Given the description of an element on the screen output the (x, y) to click on. 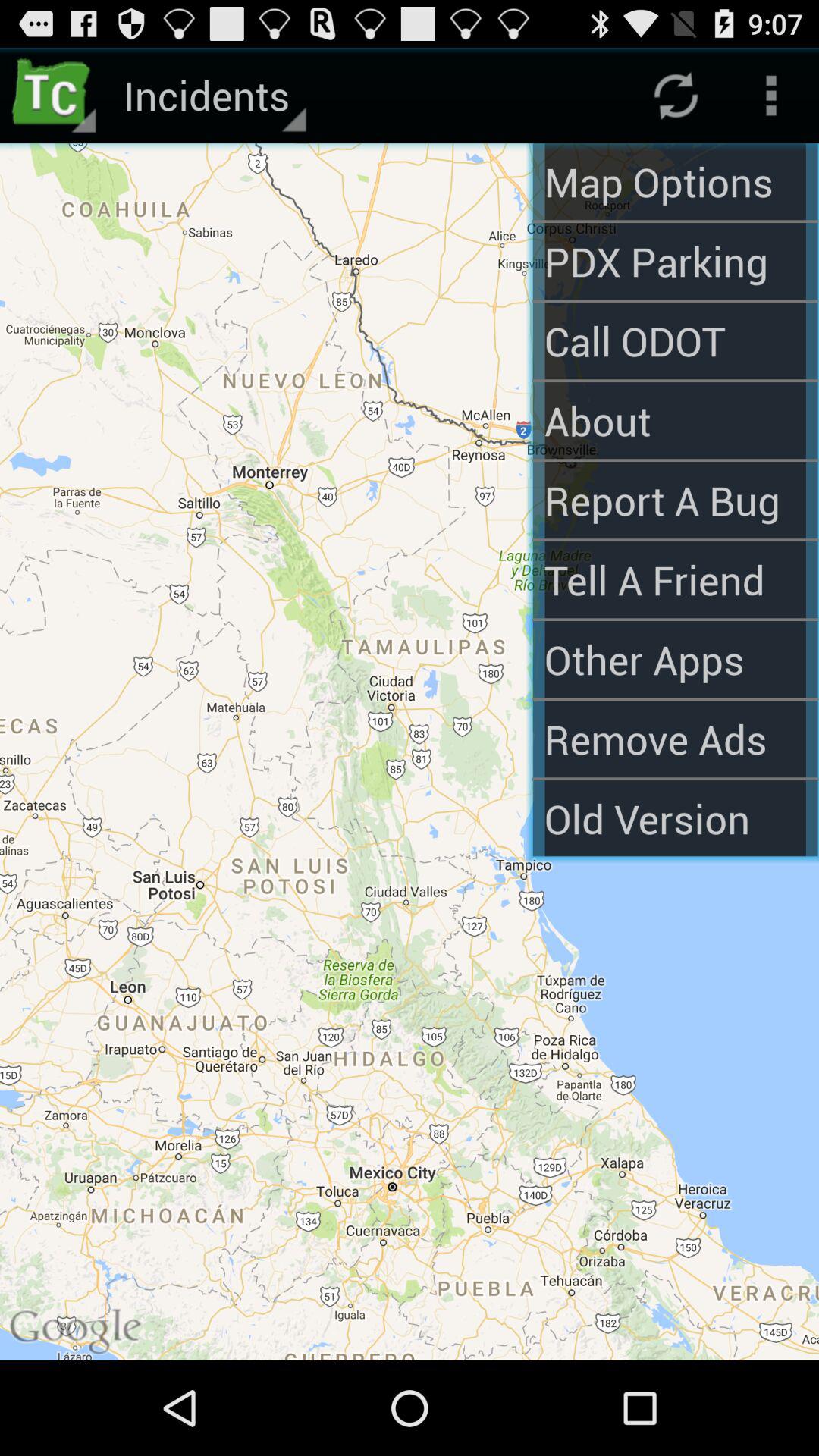
jump to the tell a friend app (675, 579)
